Given the description of an element on the screen output the (x, y) to click on. 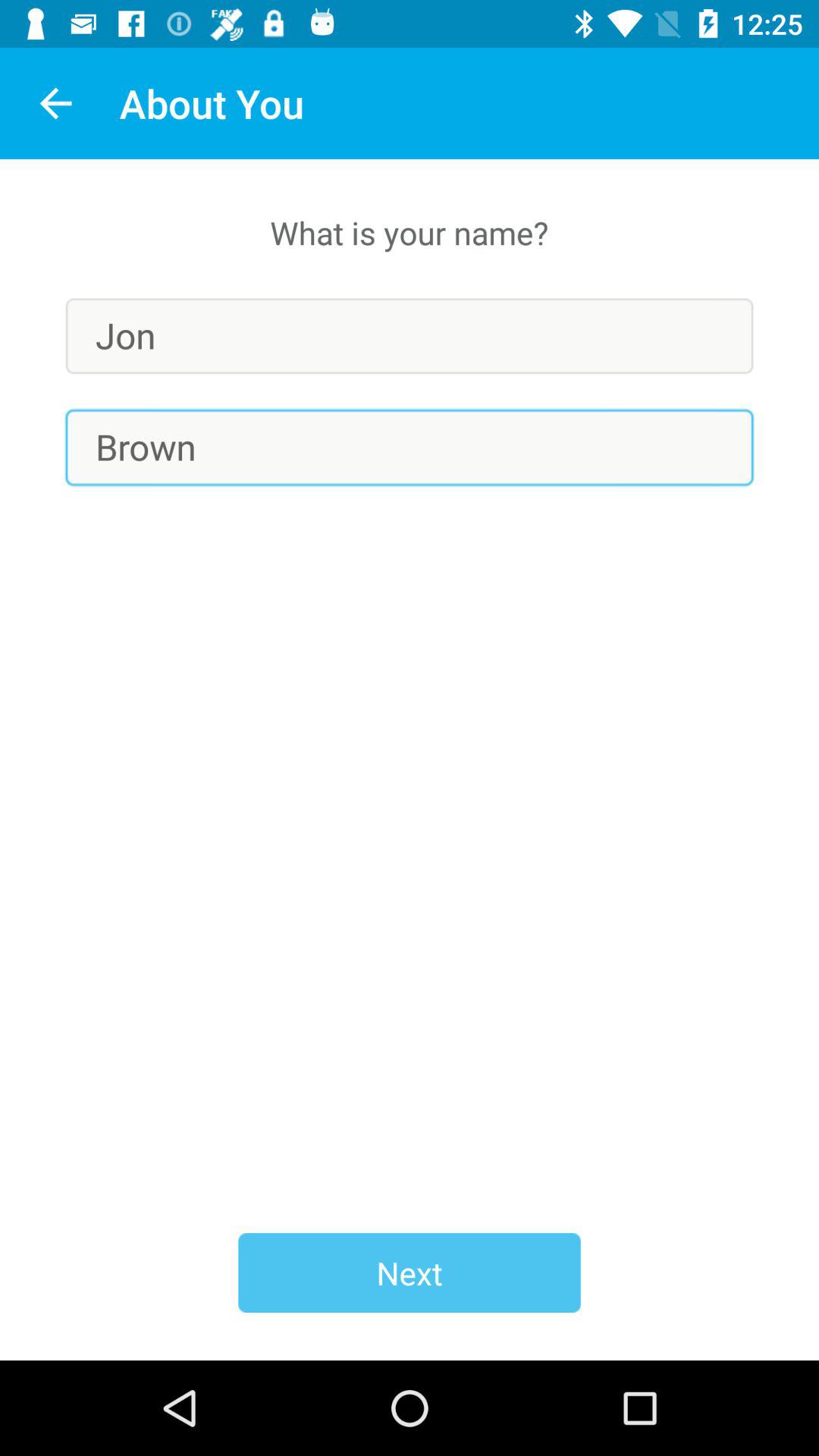
launch the icon above the brown icon (409, 335)
